Given the description of an element on the screen output the (x, y) to click on. 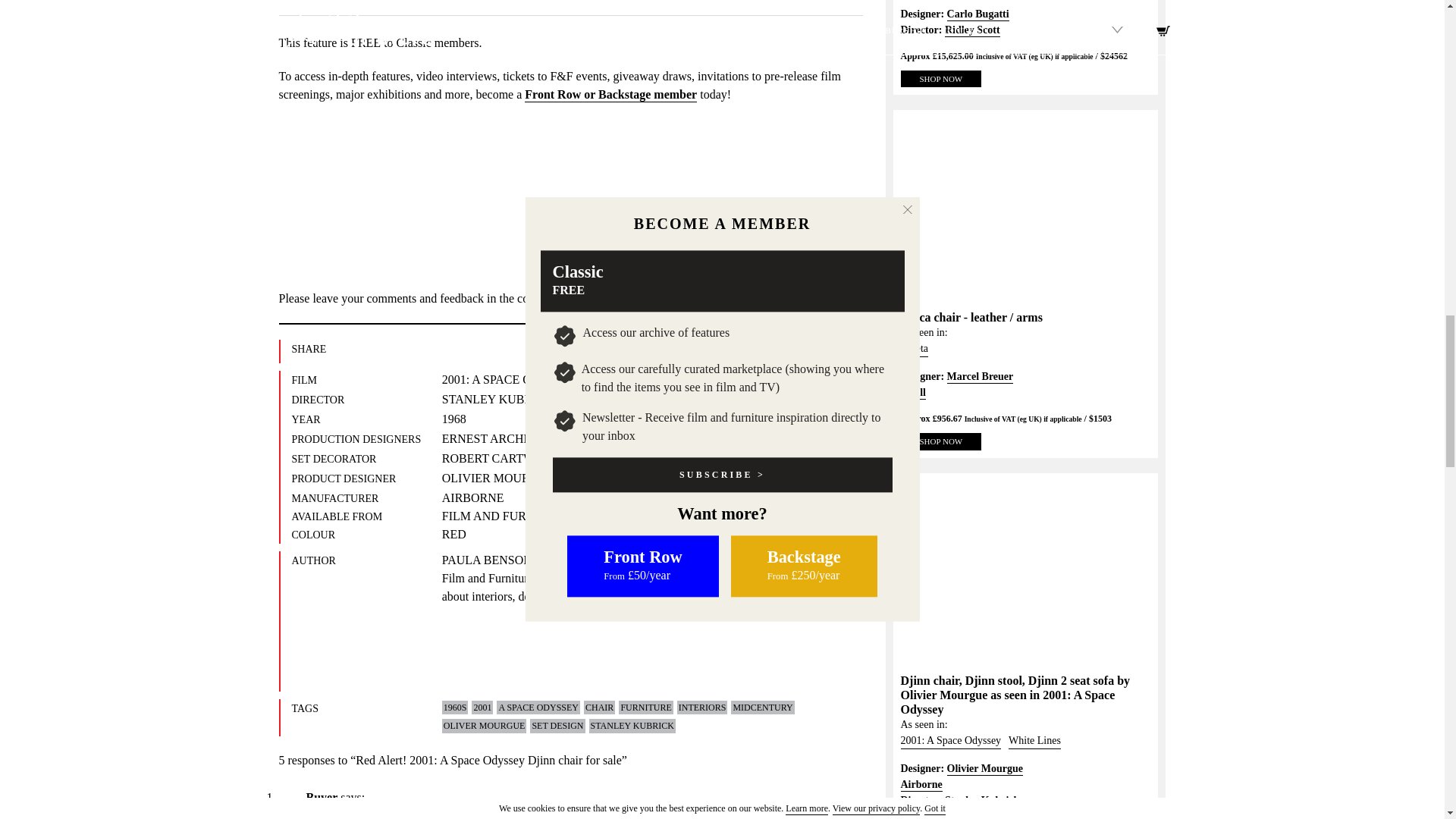
Front Row or Backstage member (610, 94)
